Given the description of an element on the screen output the (x, y) to click on. 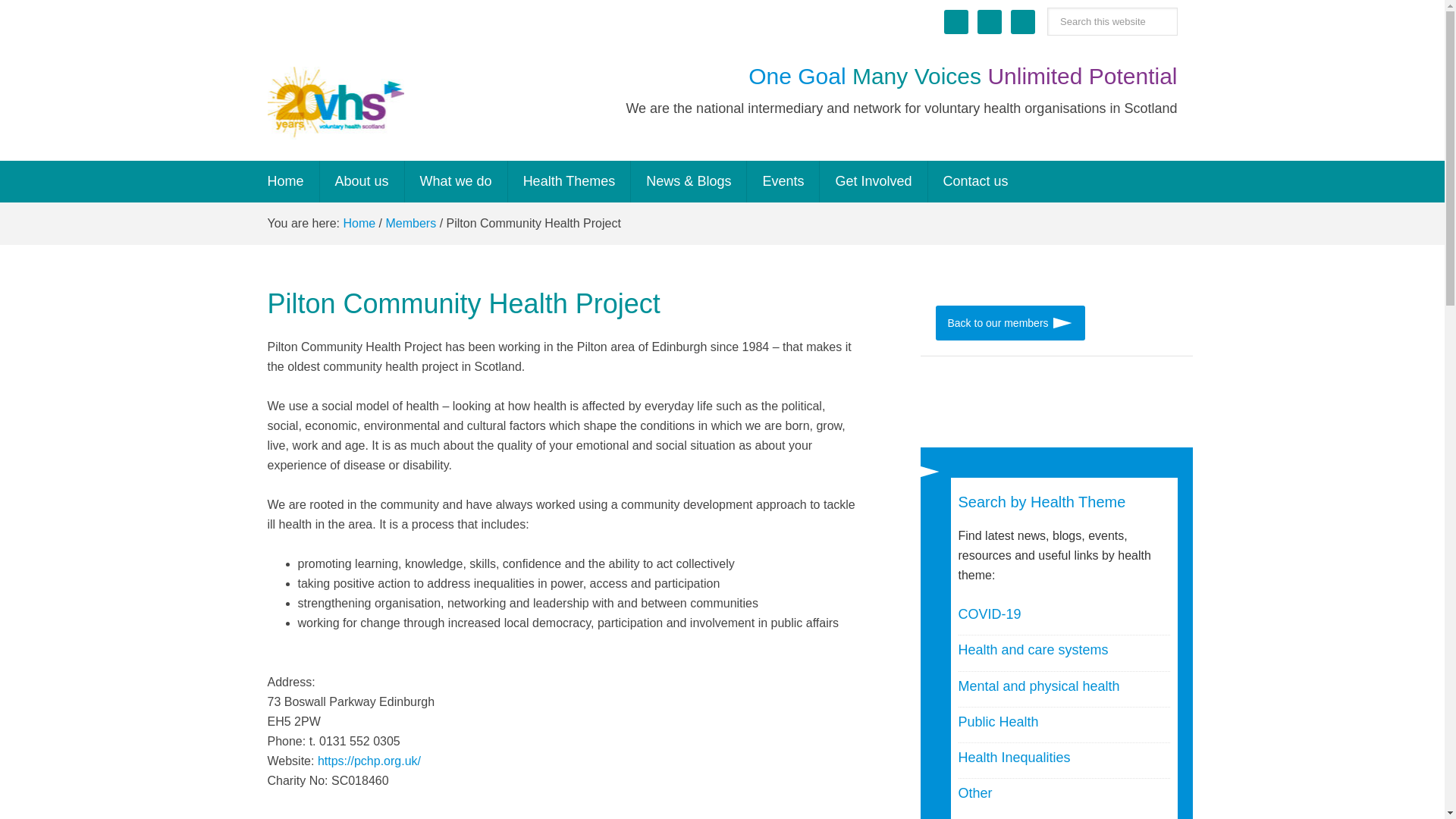
Events (782, 181)
Get Involved (873, 181)
What we do (456, 181)
Health Themes (569, 181)
Home (284, 181)
VOLUNTARY HEALTH SCOTLAND (334, 102)
About us (362, 181)
